Given the description of an element on the screen output the (x, y) to click on. 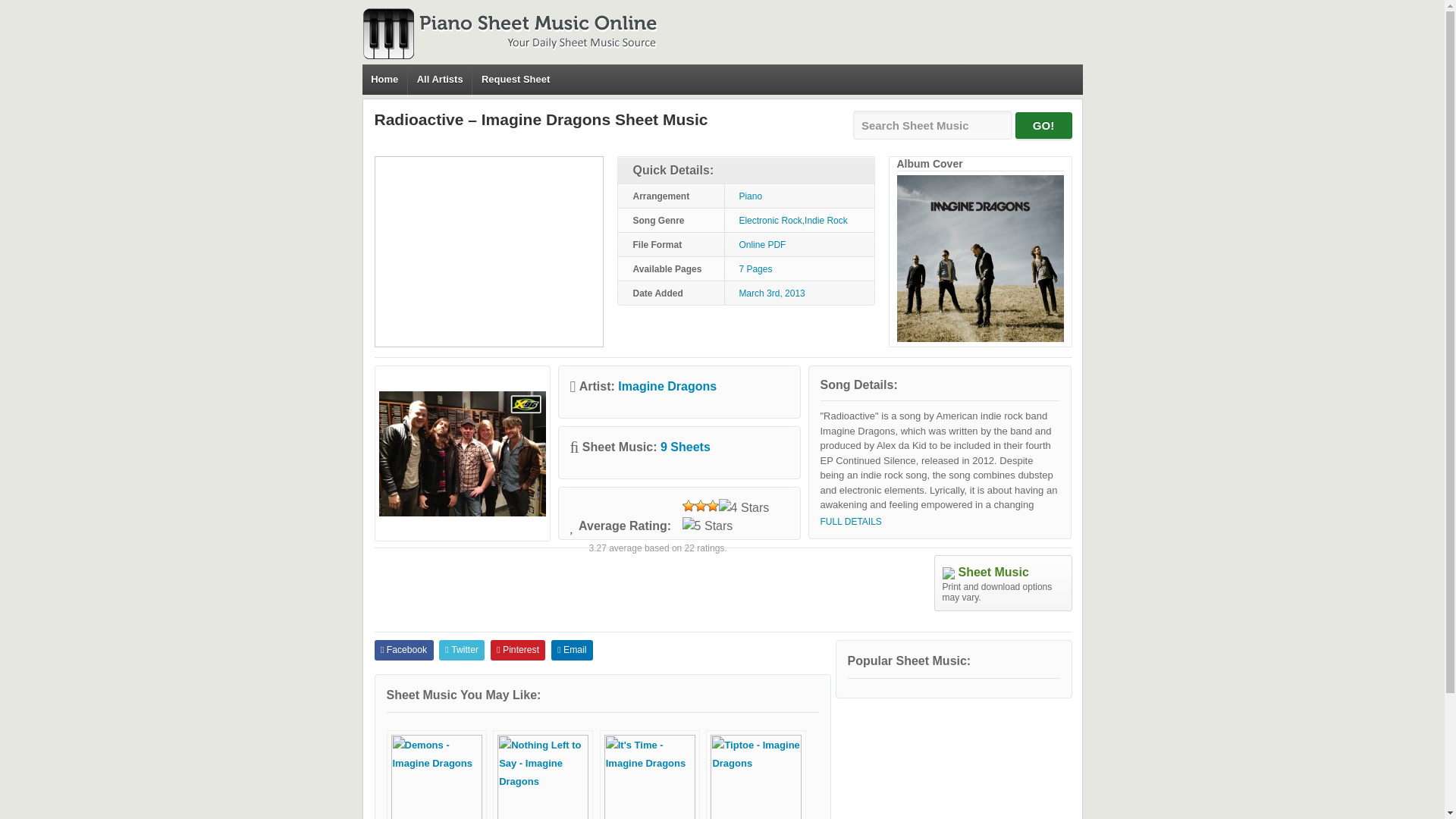
5 Stars (707, 525)
Pinterest (518, 649)
Email (571, 649)
Twitter (461, 649)
All Artists (439, 79)
2 Stars (700, 505)
FULL DETAILS (851, 521)
Home (384, 79)
View all sheet music by Imagine Dragons (685, 446)
Imagine Dragons (666, 386)
